Given the description of an element on the screen output the (x, y) to click on. 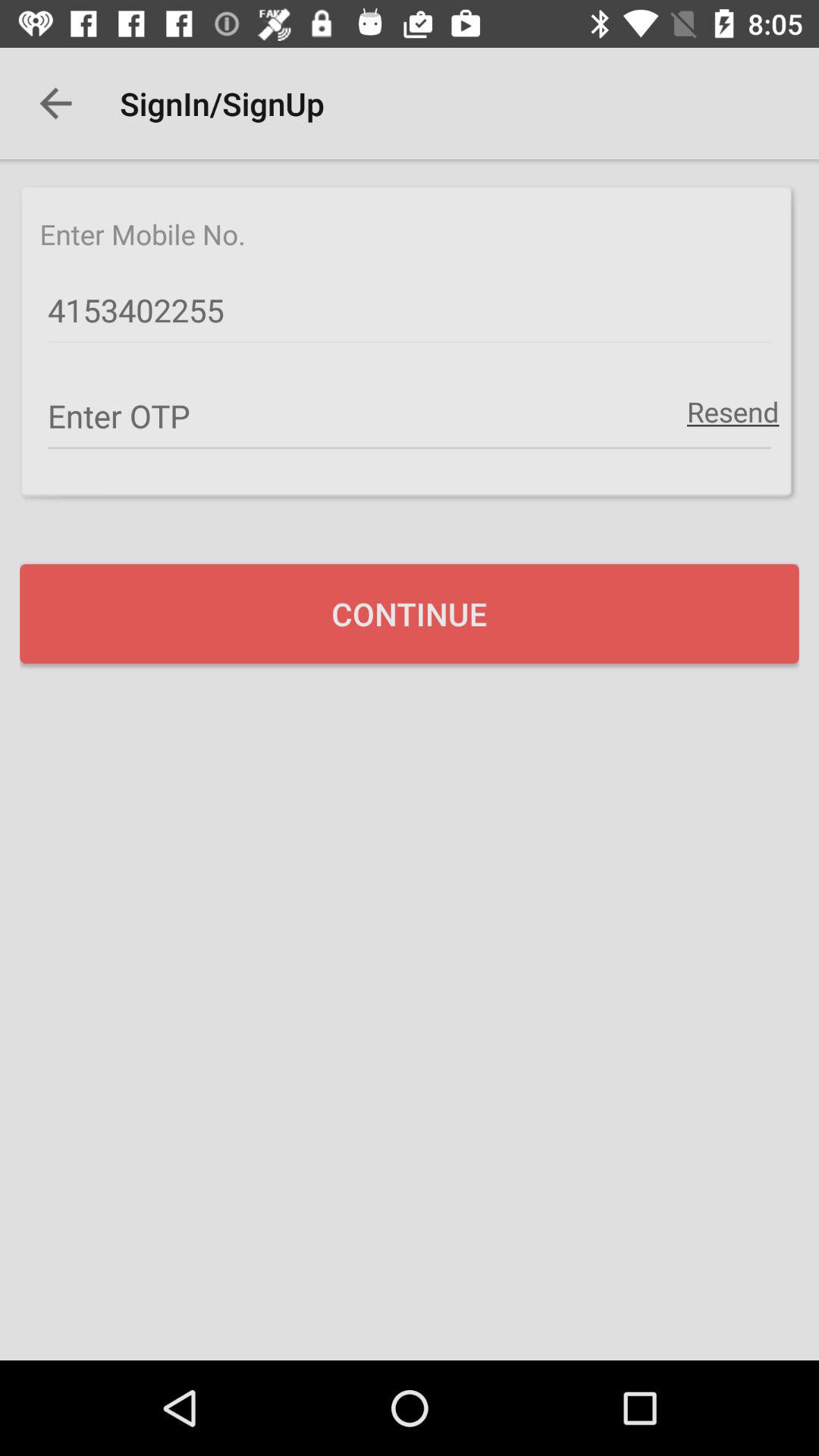
launch the icon above continue icon (409, 416)
